Given the description of an element on the screen output the (x, y) to click on. 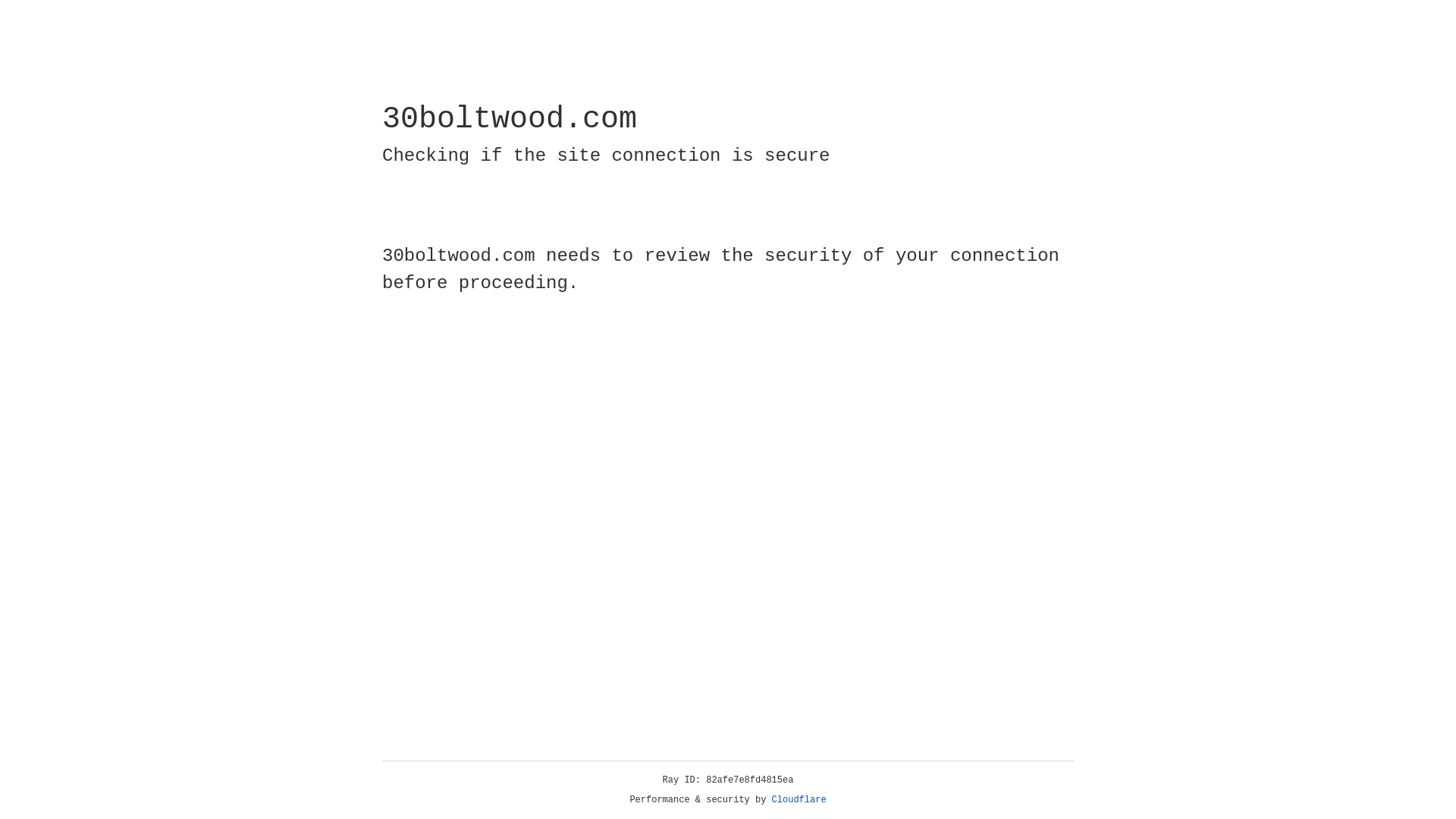
Cloudflare Element type: text (798, 799)
